Given the description of an element on the screen output the (x, y) to click on. 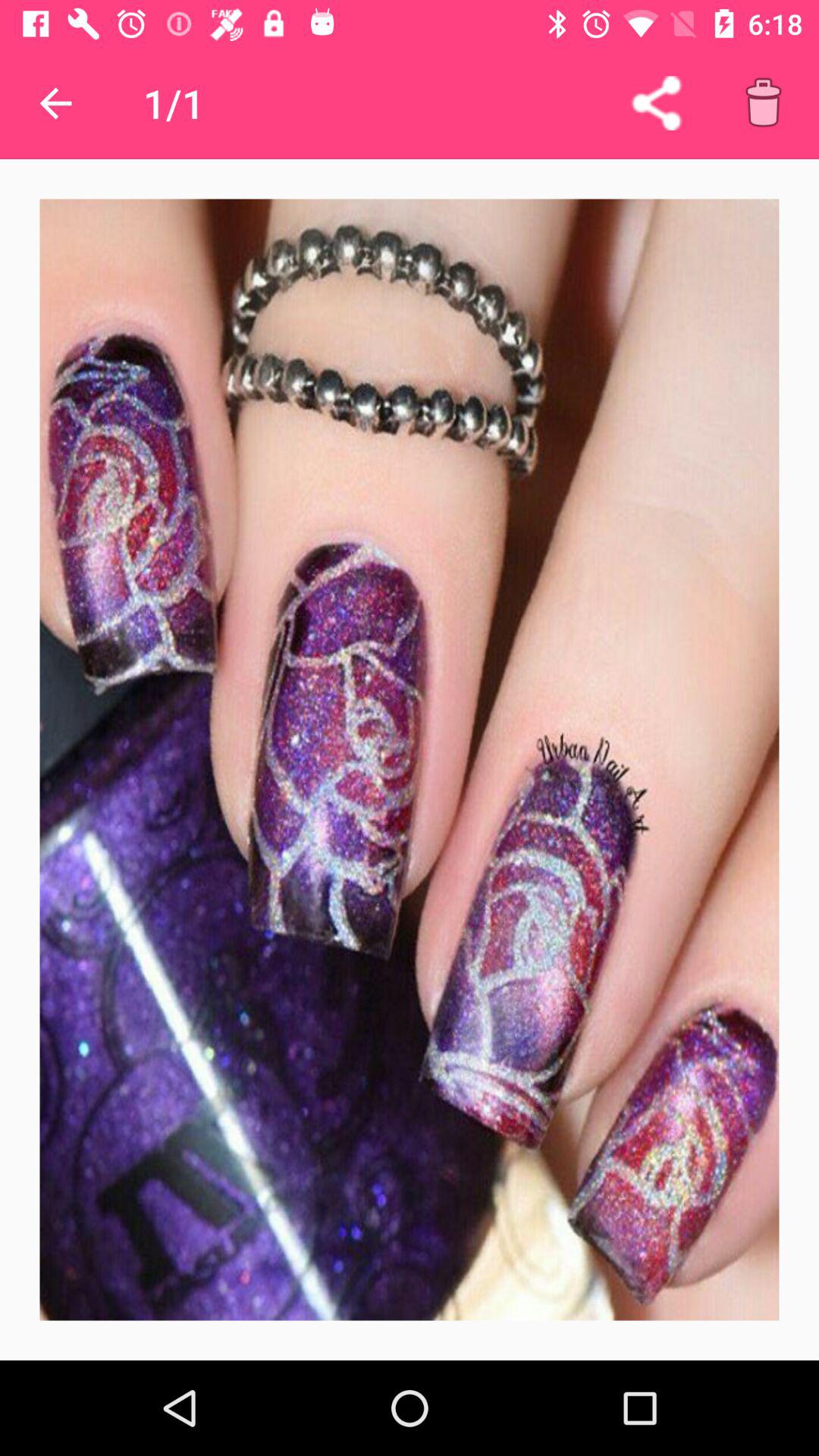
delete (763, 103)
